Given the description of an element on the screen output the (x, y) to click on. 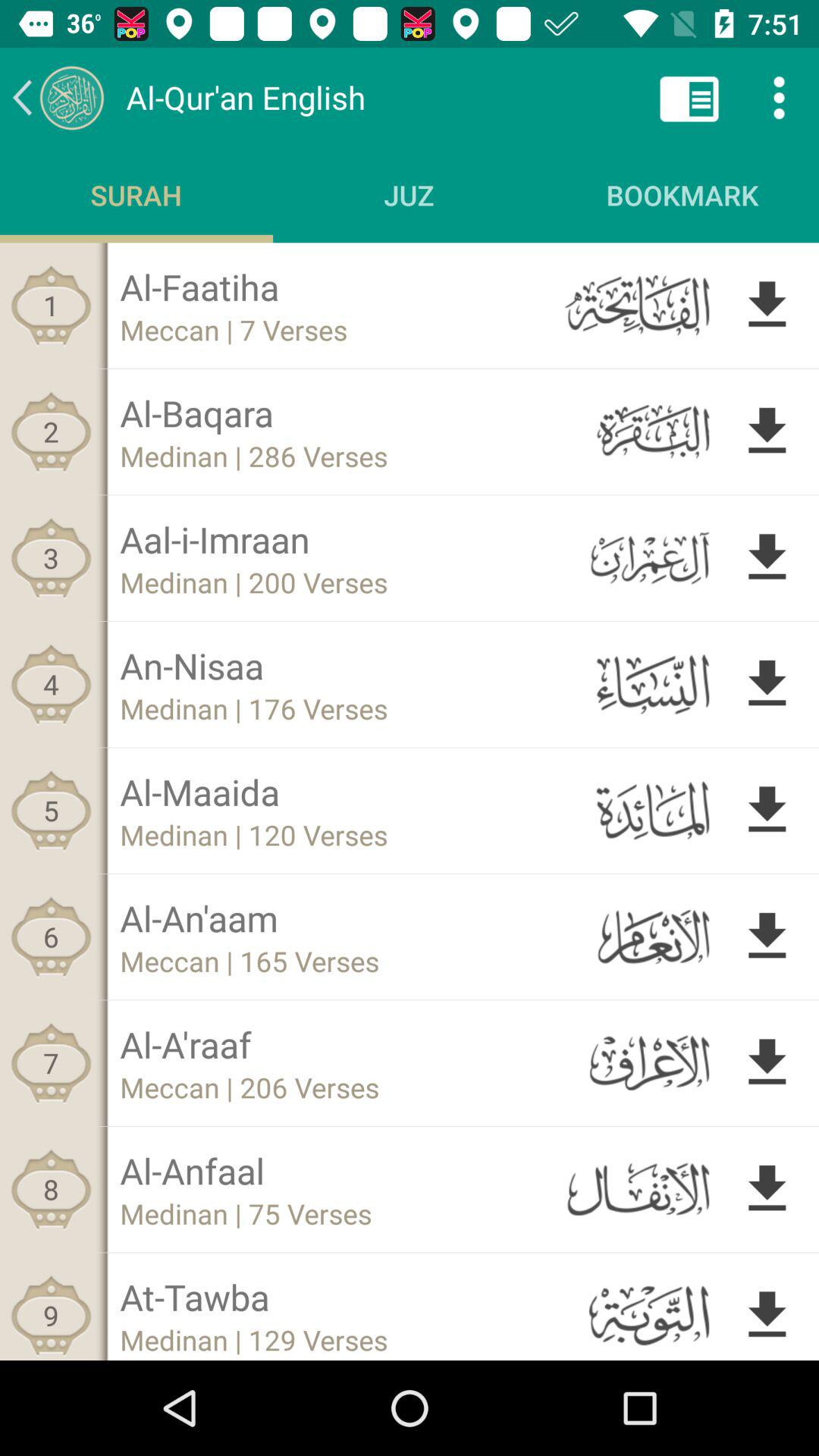
download (767, 1311)
